Given the description of an element on the screen output the (x, y) to click on. 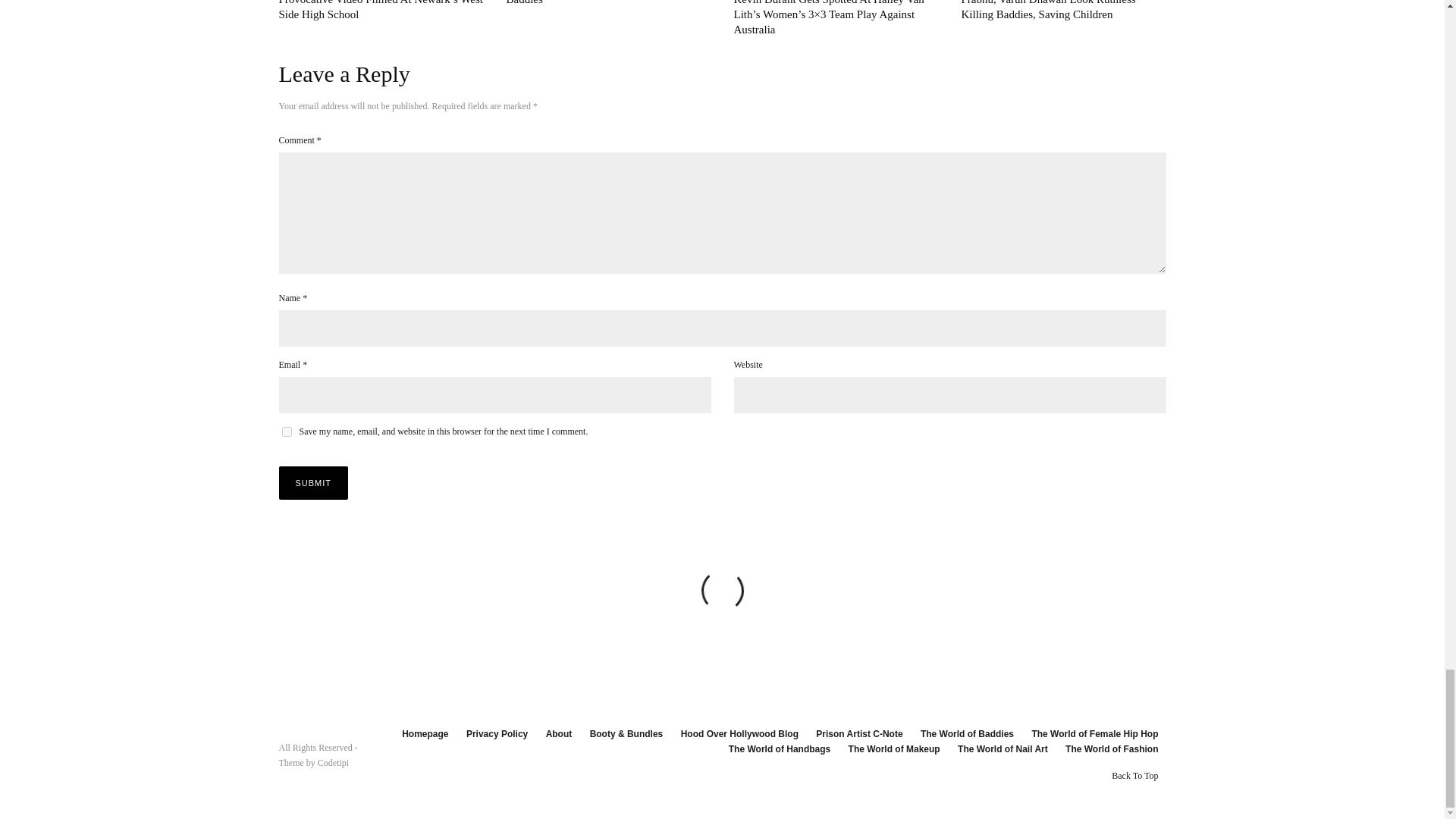
yes (287, 431)
Submit (314, 482)
